Given the description of an element on the screen output the (x, y) to click on. 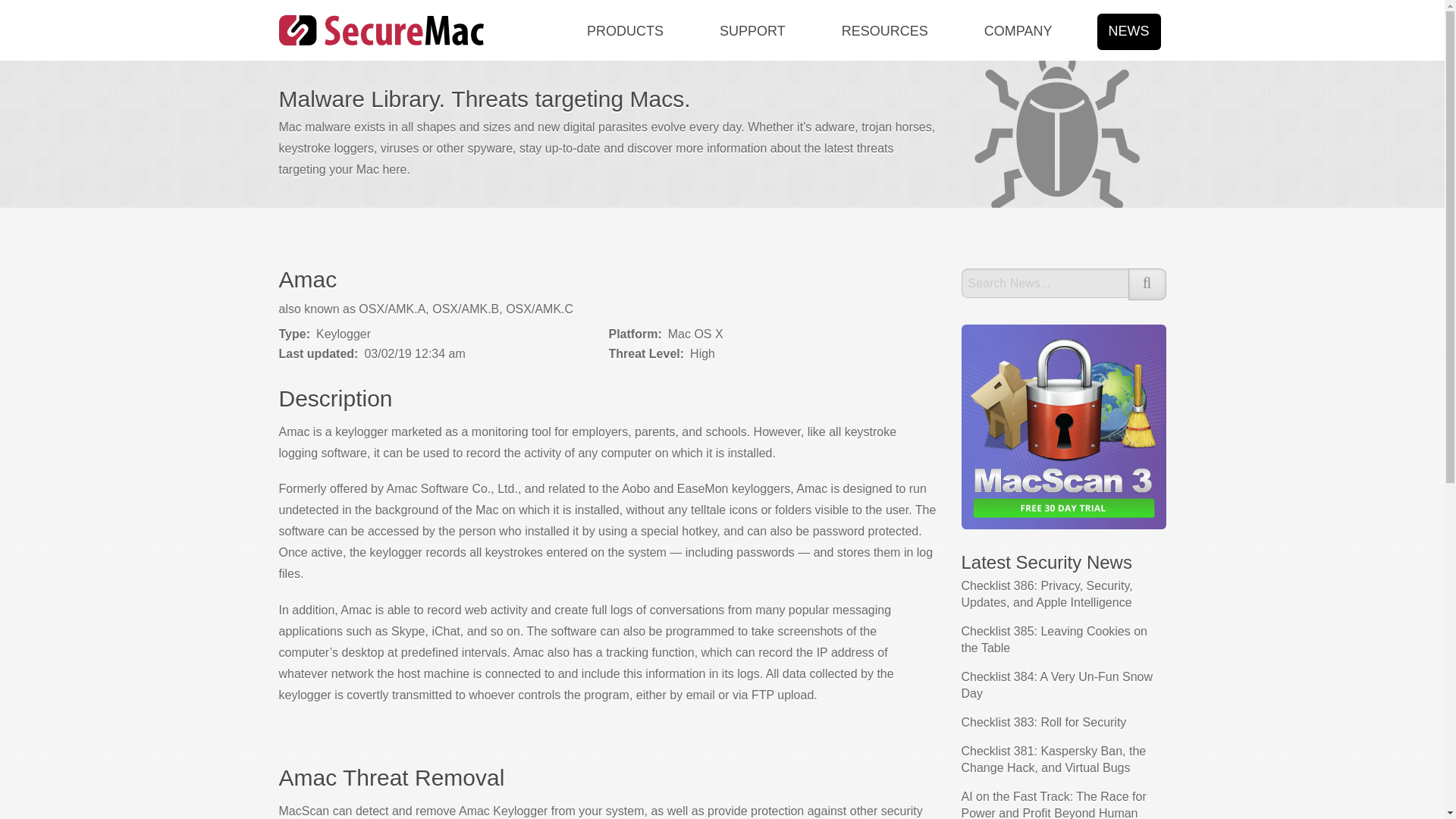
Checklist 383: Roll for Security (1043, 721)
Search News (1044, 283)
Checklist 385: Leaving Cookies on the Table (1053, 639)
Checklist 384: A Very Un-Fun Snow Day (1056, 685)
NEWS (1123, 30)
